Given the description of an element on the screen output the (x, y) to click on. 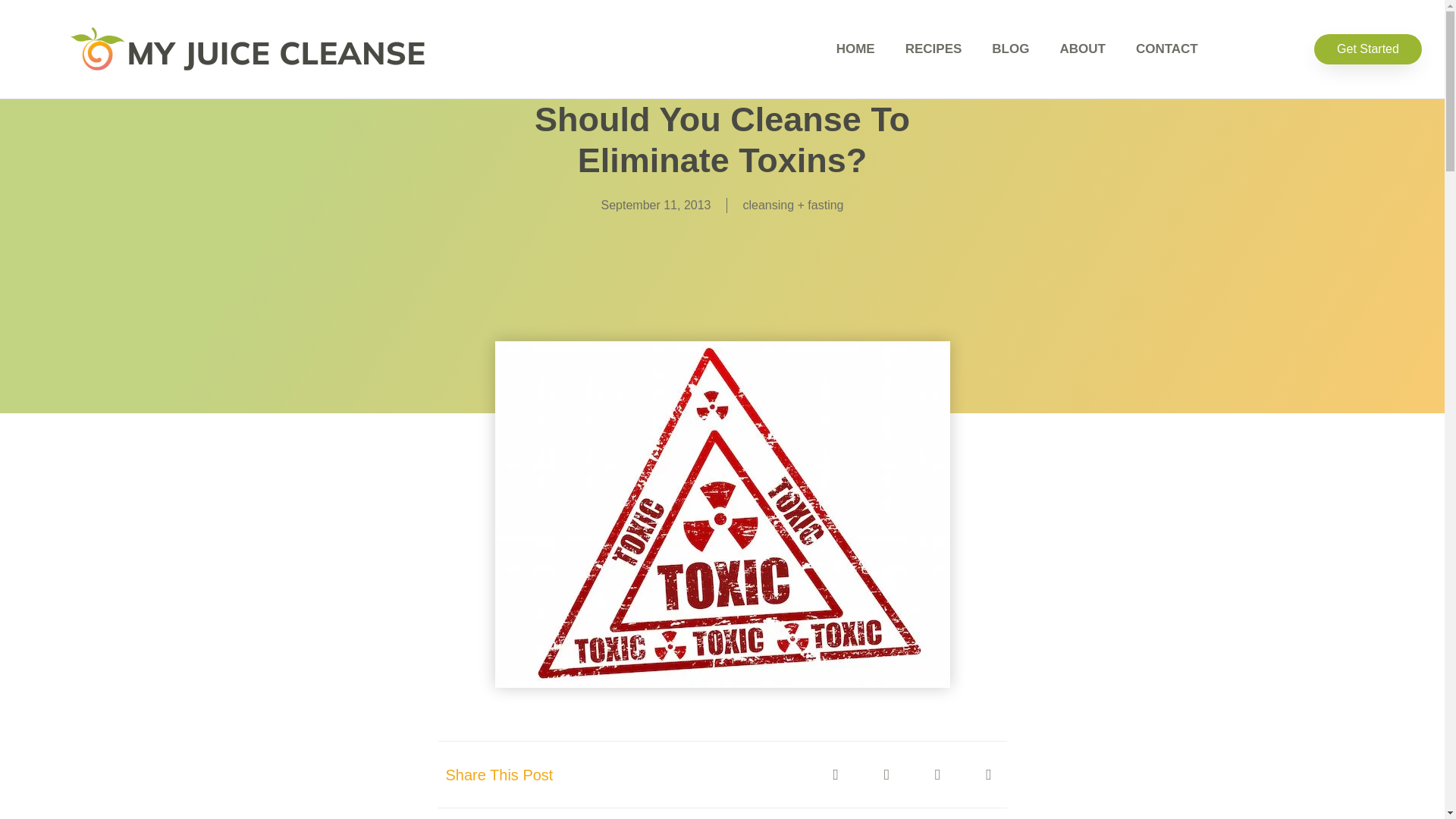
ABOUT (1081, 48)
Get Started (1368, 49)
RECIPES (932, 48)
CONTACT (1166, 48)
BLOG (1009, 48)
HOME (855, 48)
September 11, 2013 (654, 205)
